Given the description of an element on the screen output the (x, y) to click on. 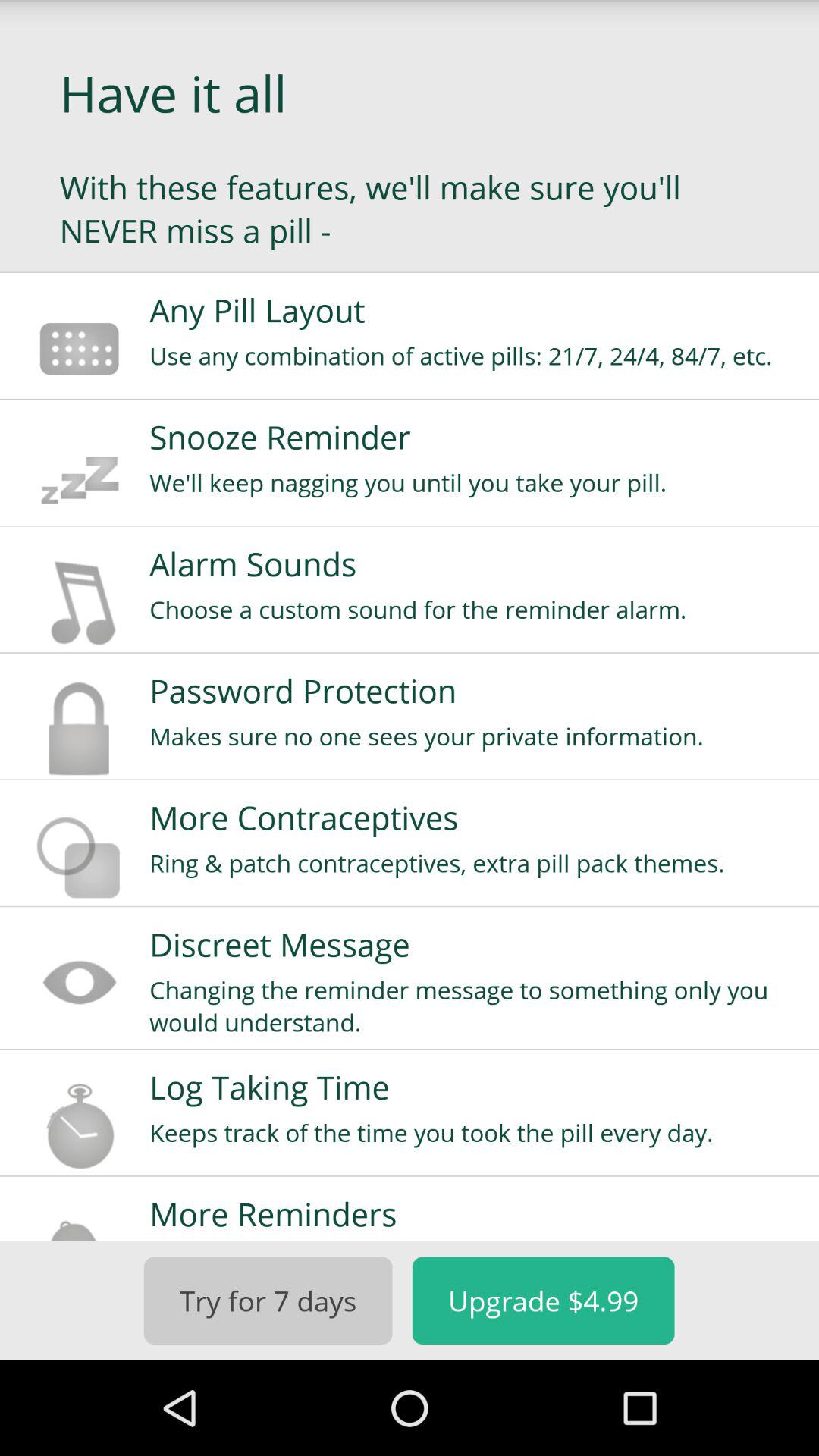
open the icon above the choose a custom item (474, 563)
